Given the description of an element on the screen output the (x, y) to click on. 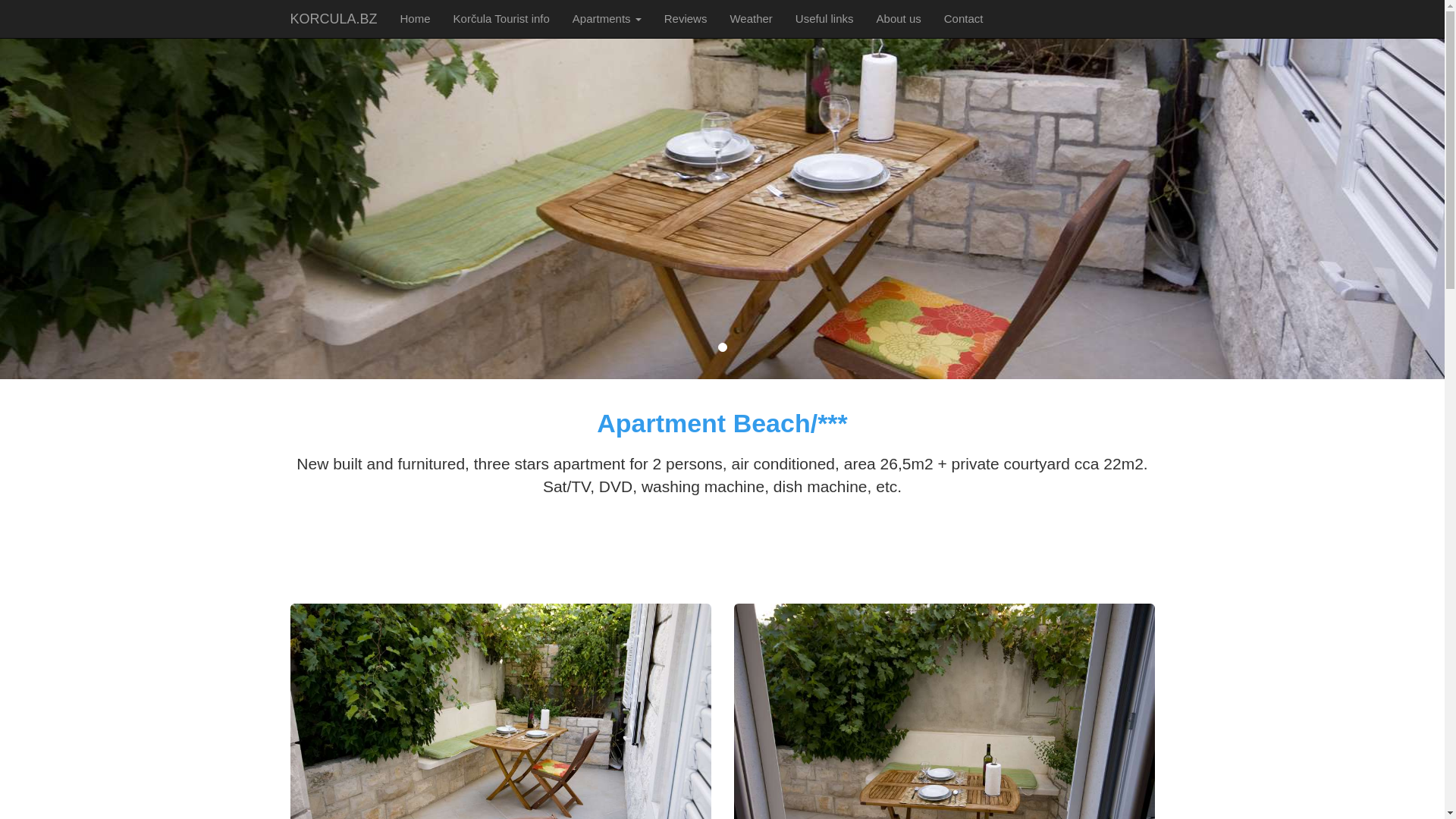
Home Element type: text (415, 18)
Apartments Element type: text (606, 18)
Reviews Element type: text (685, 18)
About us Element type: text (898, 18)
KORCULA.BZ Element type: text (334, 18)
Weather Element type: text (750, 18)
Useful links Element type: text (824, 18)
Contact Element type: text (963, 18)
